Given the description of an element on the screen output the (x, y) to click on. 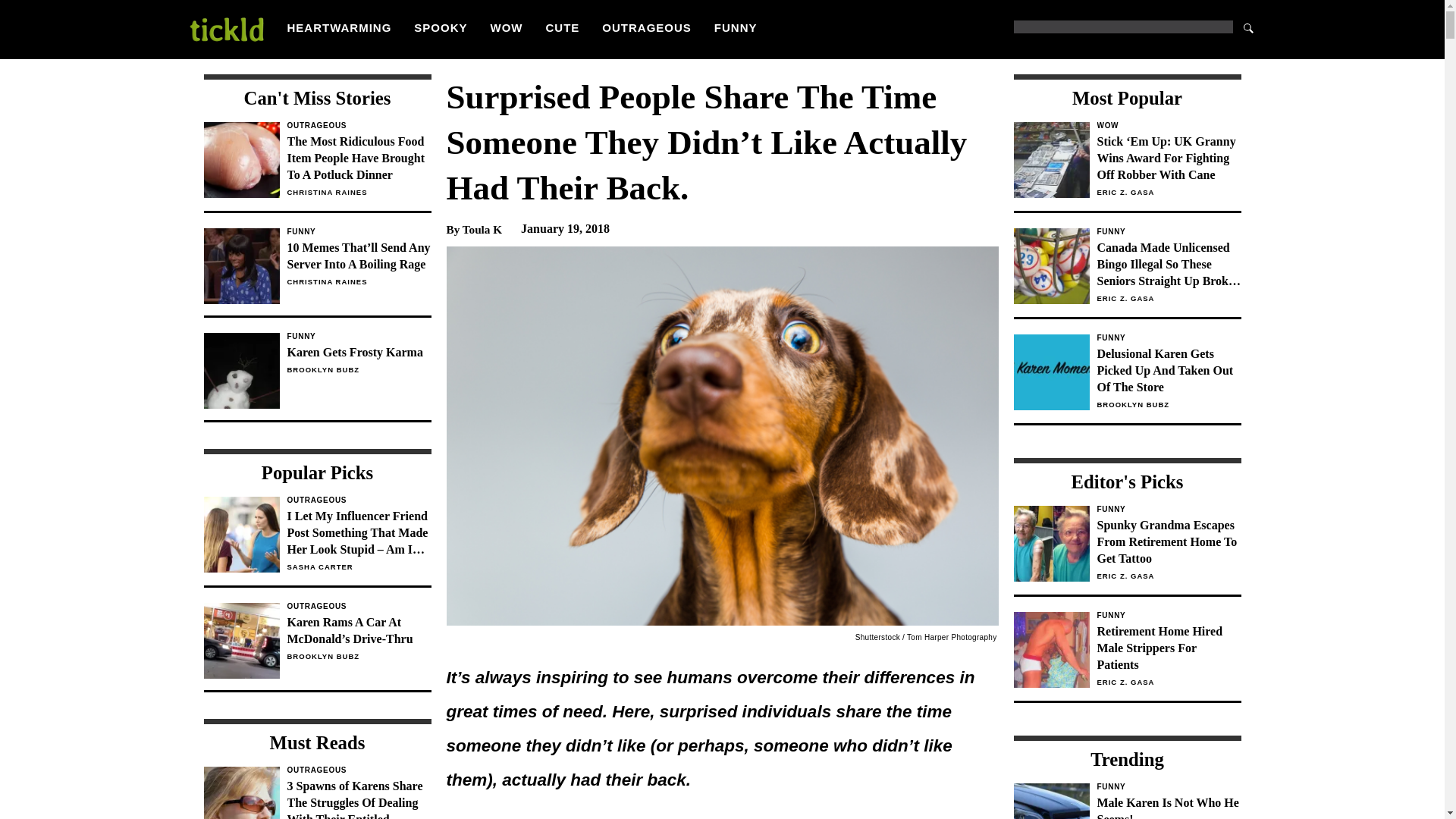
Funny (1168, 231)
HEARTWARMING (338, 26)
WOW (1168, 125)
SPOOKY (440, 26)
By Toula K (473, 228)
Search (1248, 27)
Funny (1168, 786)
Funny (1126, 800)
CUTE (358, 231)
OUTRAGEOUS (562, 26)
WOW (646, 26)
